Given the description of an element on the screen output the (x, y) to click on. 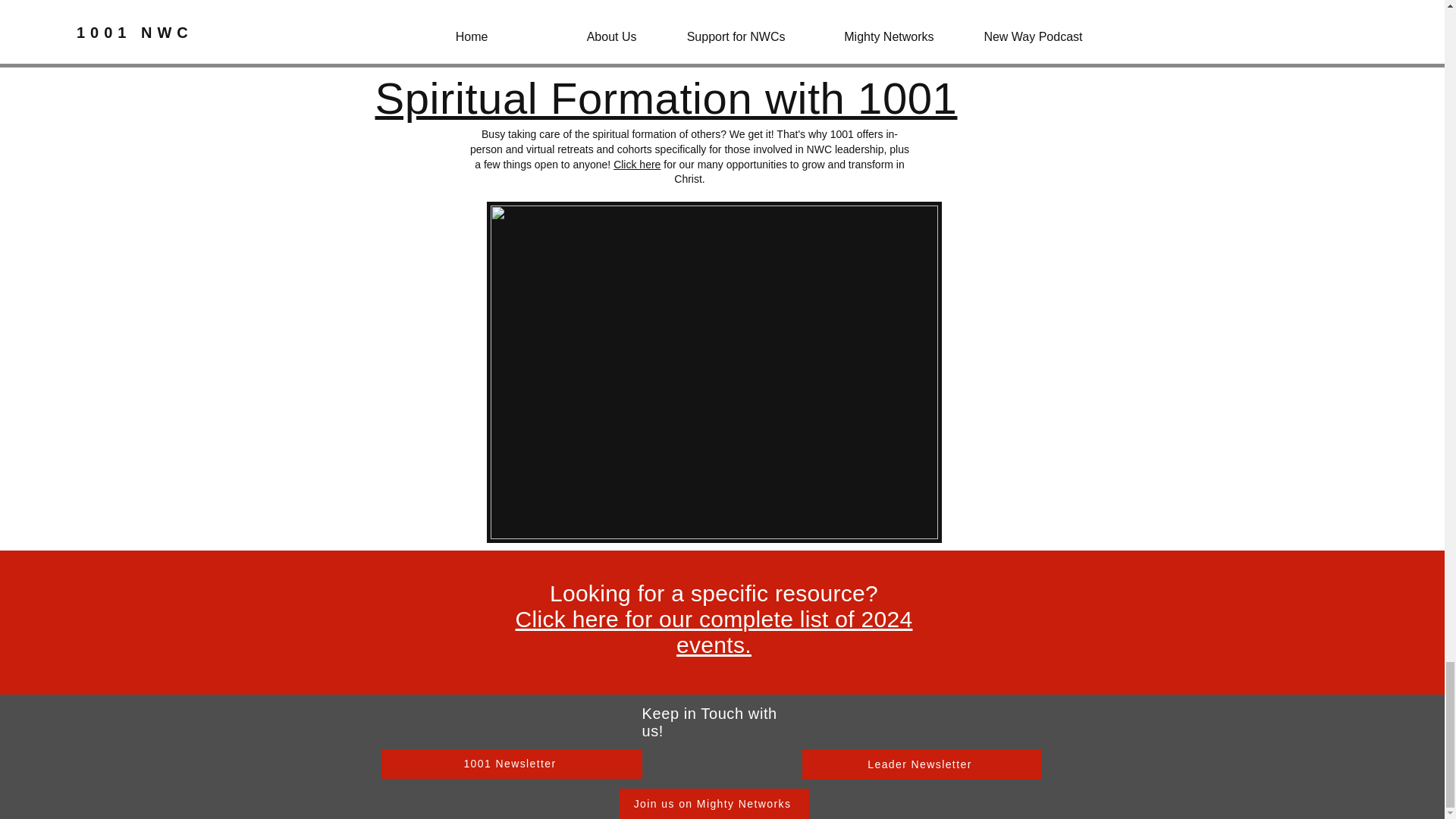
Click here (636, 164)
Click here for our complete list of 2024 events. (713, 631)
1001 Newsletter (511, 763)
Spiritual Formation with 1001 (665, 97)
Accents 01 - First Meeting.heic (712, 24)
Leader Newsletter (921, 764)
